Given the description of an element on the screen output the (x, y) to click on. 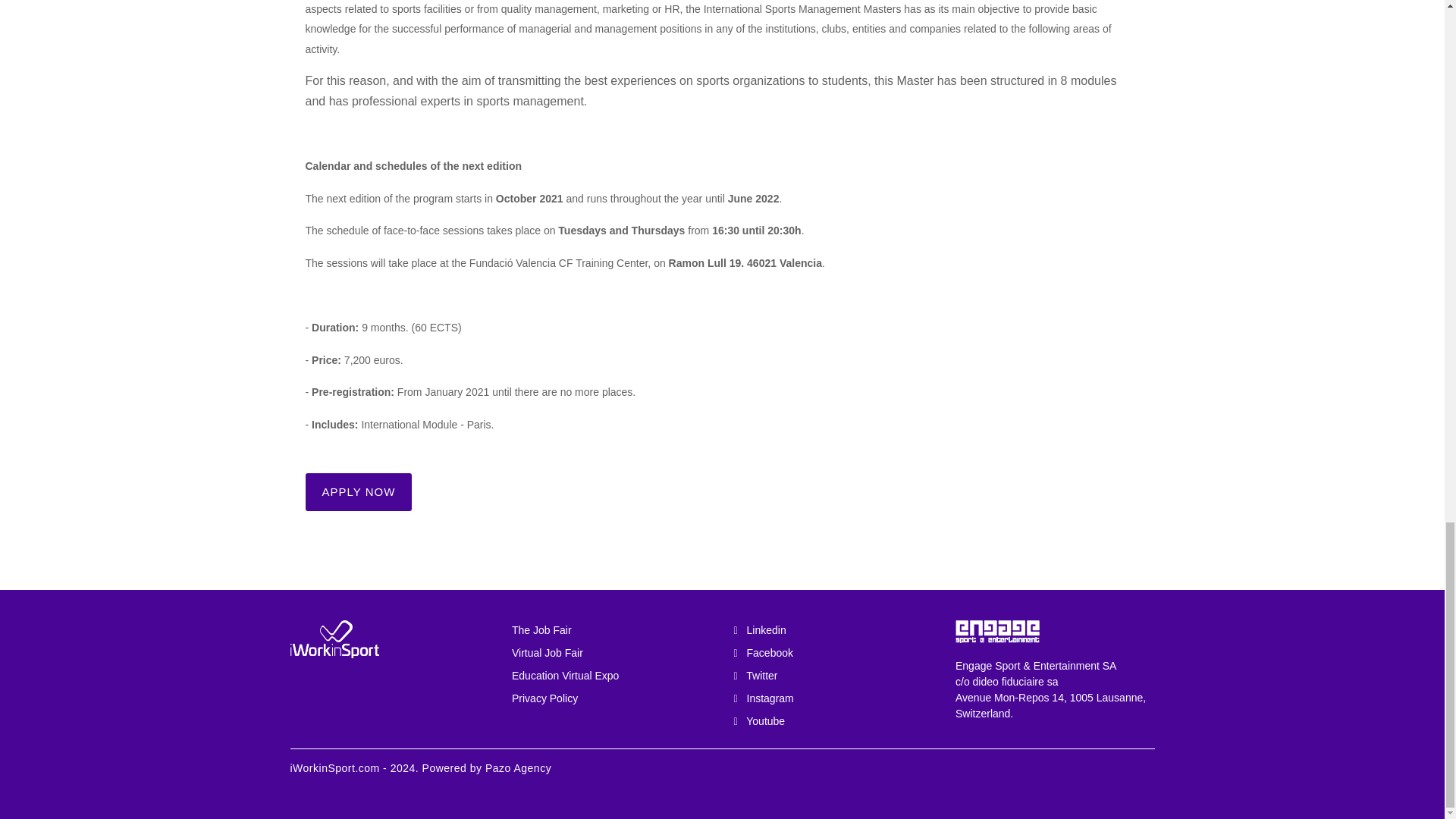
Privacy Policy (611, 698)
APPLY NOW (358, 492)
Education Virtual Expo (611, 675)
Virtual Job Fair (611, 653)
The Job Fair (611, 630)
Youtube (833, 721)
Powered by Pazo Agency (486, 767)
Twitter (833, 675)
Instagram (833, 698)
Linkedin (833, 630)
